Given the description of an element on the screen output the (x, y) to click on. 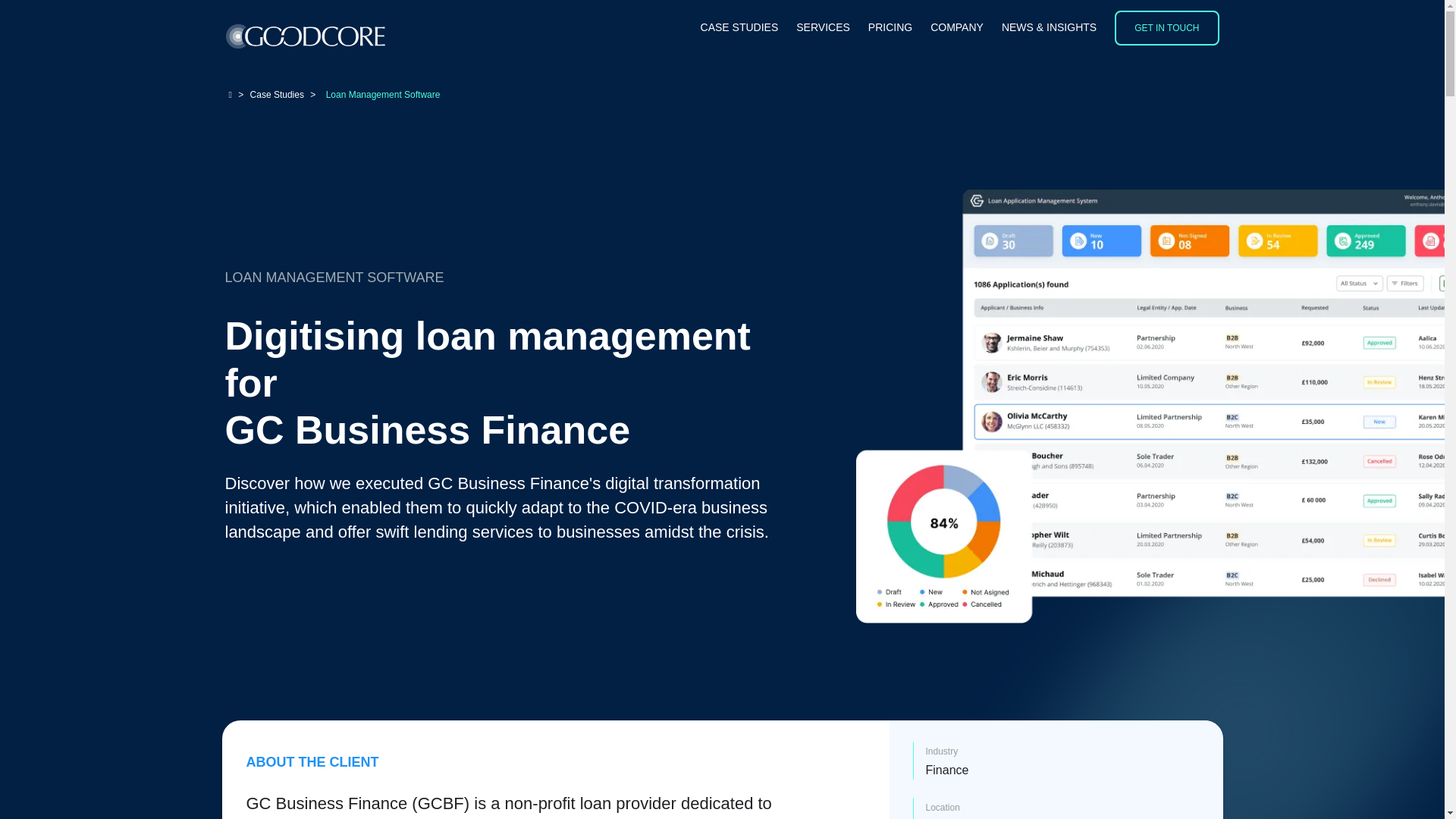
SERVICES (823, 27)
Get in Touch (1166, 27)
Pricing (889, 27)
Services (823, 27)
PRICING (889, 27)
CASE STUDIES (739, 27)
Goodcore Logo (305, 36)
GET IN TOUCH (1166, 27)
COMPANY (957, 27)
Case Studies (739, 27)
Company (957, 27)
